Given the description of an element on the screen output the (x, y) to click on. 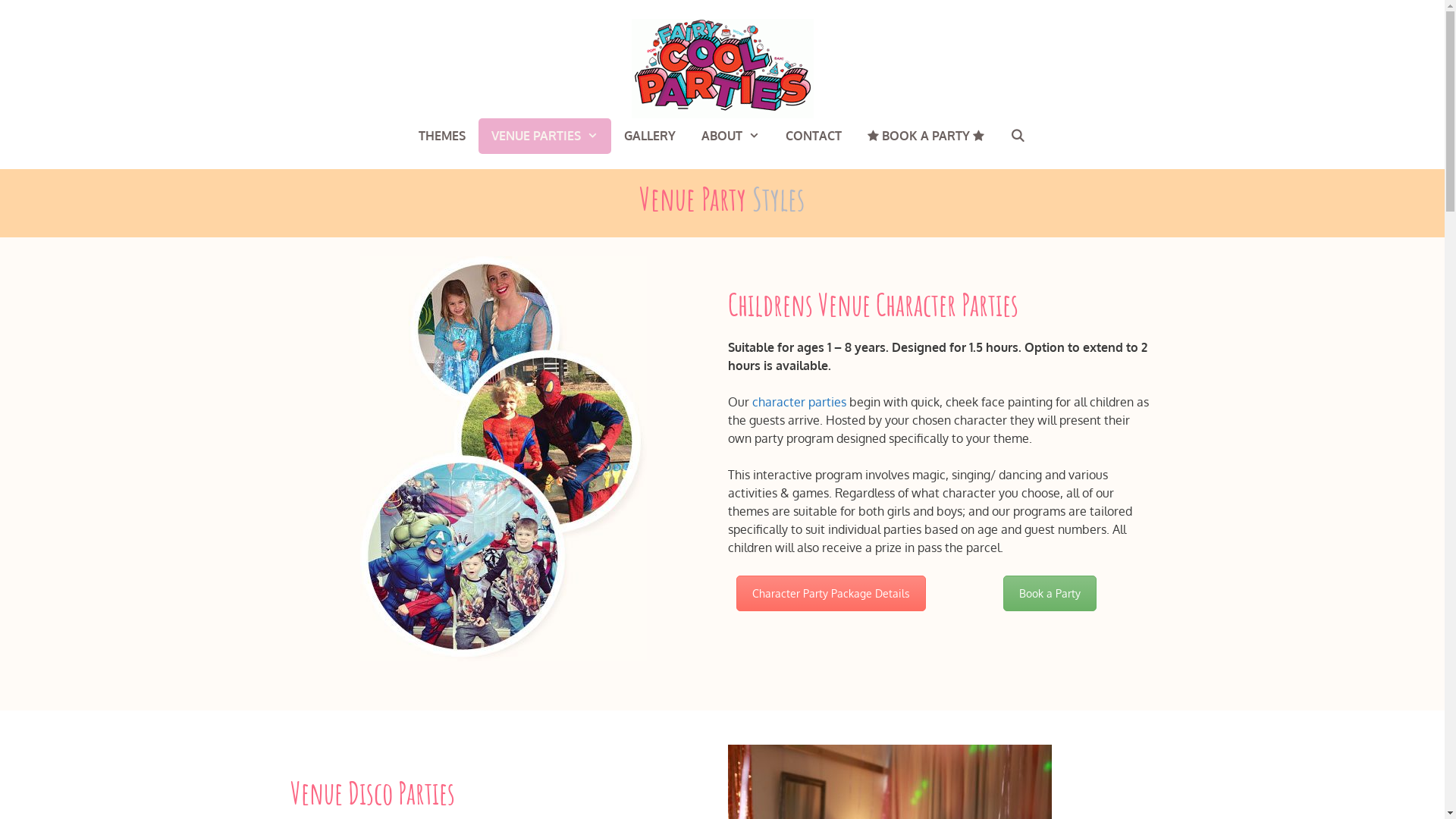
character parties Element type: text (799, 401)
THEMES Element type: text (441, 135)
Character Party Package Details Element type: text (830, 593)
GALLERY Element type: text (649, 135)
Book a Party Element type: text (1049, 593)
ABOUT Element type: text (730, 135)
Venue Disco Parties Element type: text (371, 792)
BOOK A PARTY Element type: text (925, 135)
CONTACT Element type: text (813, 135)
VENUE PARTIES Element type: text (544, 135)
